Given the description of an element on the screen output the (x, y) to click on. 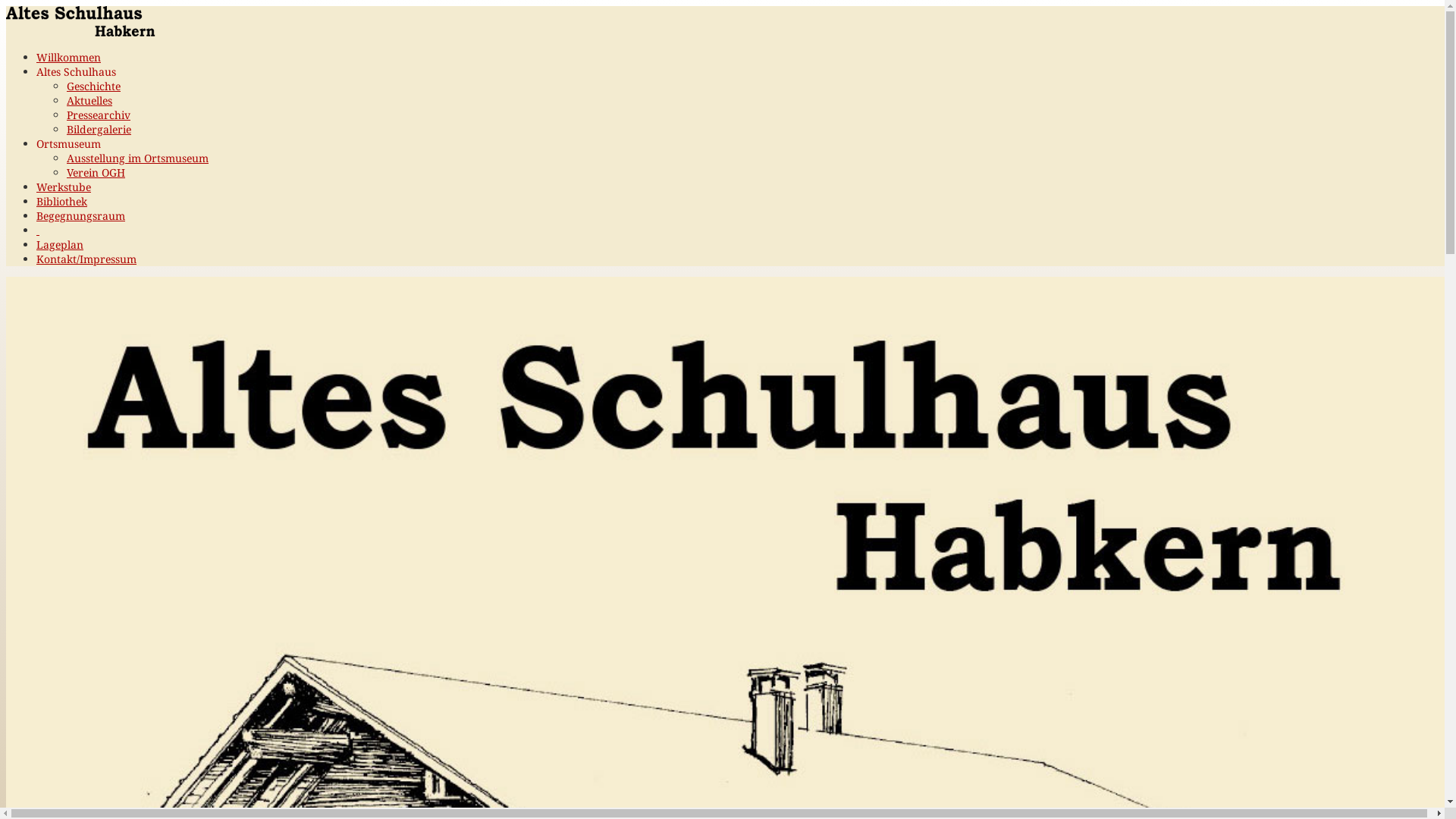
Geschichte Element type: text (93, 85)
Kontakt/Impressum Element type: text (86, 258)
Werkstube Element type: text (63, 186)
Bibliothek Element type: text (61, 201)
Ausstellung im Ortsmuseum Element type: text (137, 157)
  Element type: text (37, 229)
Aktuelles Element type: text (89, 100)
Pressearchiv Element type: text (98, 114)
Lageplan Element type: text (59, 244)
Verein OGH Element type: text (95, 172)
Willkommen Element type: text (68, 57)
Altes Schulhaus Element type: text (76, 71)
Begegnungsraum Element type: text (80, 215)
Bildergalerie Element type: text (98, 129)
Ortsmuseum Element type: text (68, 143)
